Given the description of an element on the screen output the (x, y) to click on. 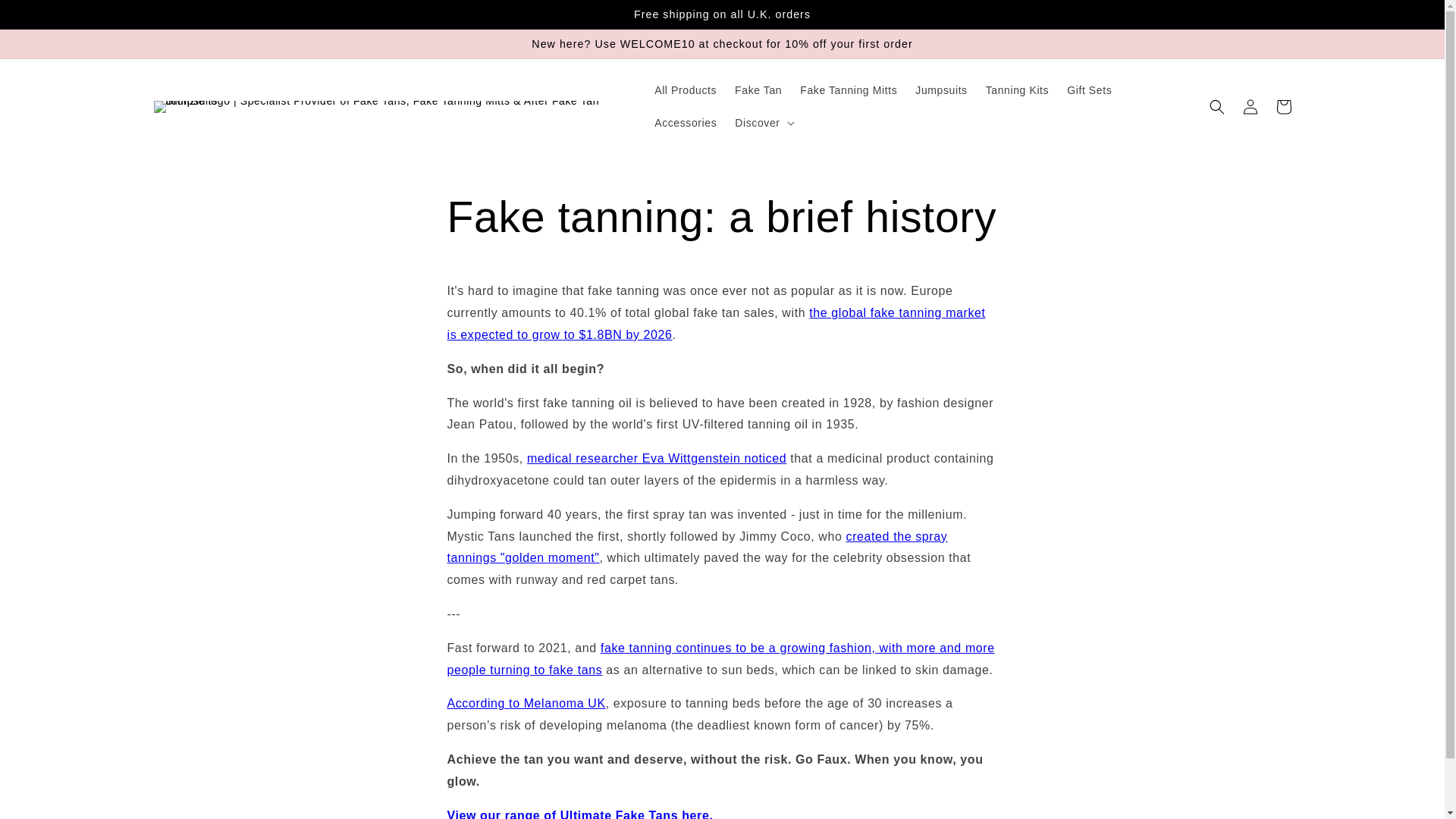
Cart (1283, 106)
Fake Tan (757, 90)
Tanning Kits (1017, 90)
Jumpsuits (940, 90)
Fake Tanning Mitts (847, 90)
Accessories (685, 122)
Gift Sets (1089, 90)
Skip to content (46, 18)
Log in (1249, 106)
All Products (685, 90)
